Given the description of an element on the screen output the (x, y) to click on. 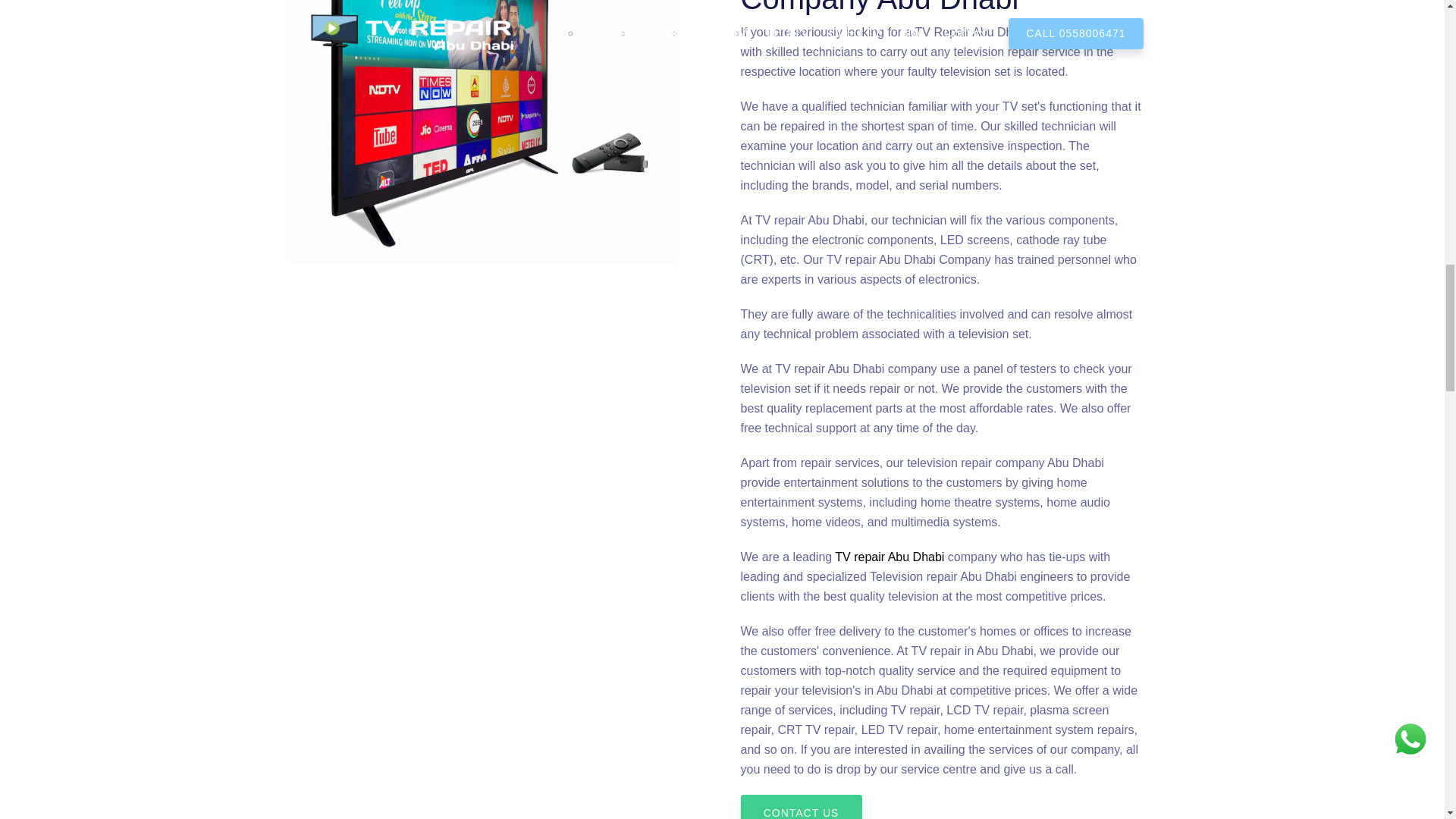
CONTACT US (800, 806)
TV repair Abu Dhabi (888, 556)
